Given the description of an element on the screen output the (x, y) to click on. 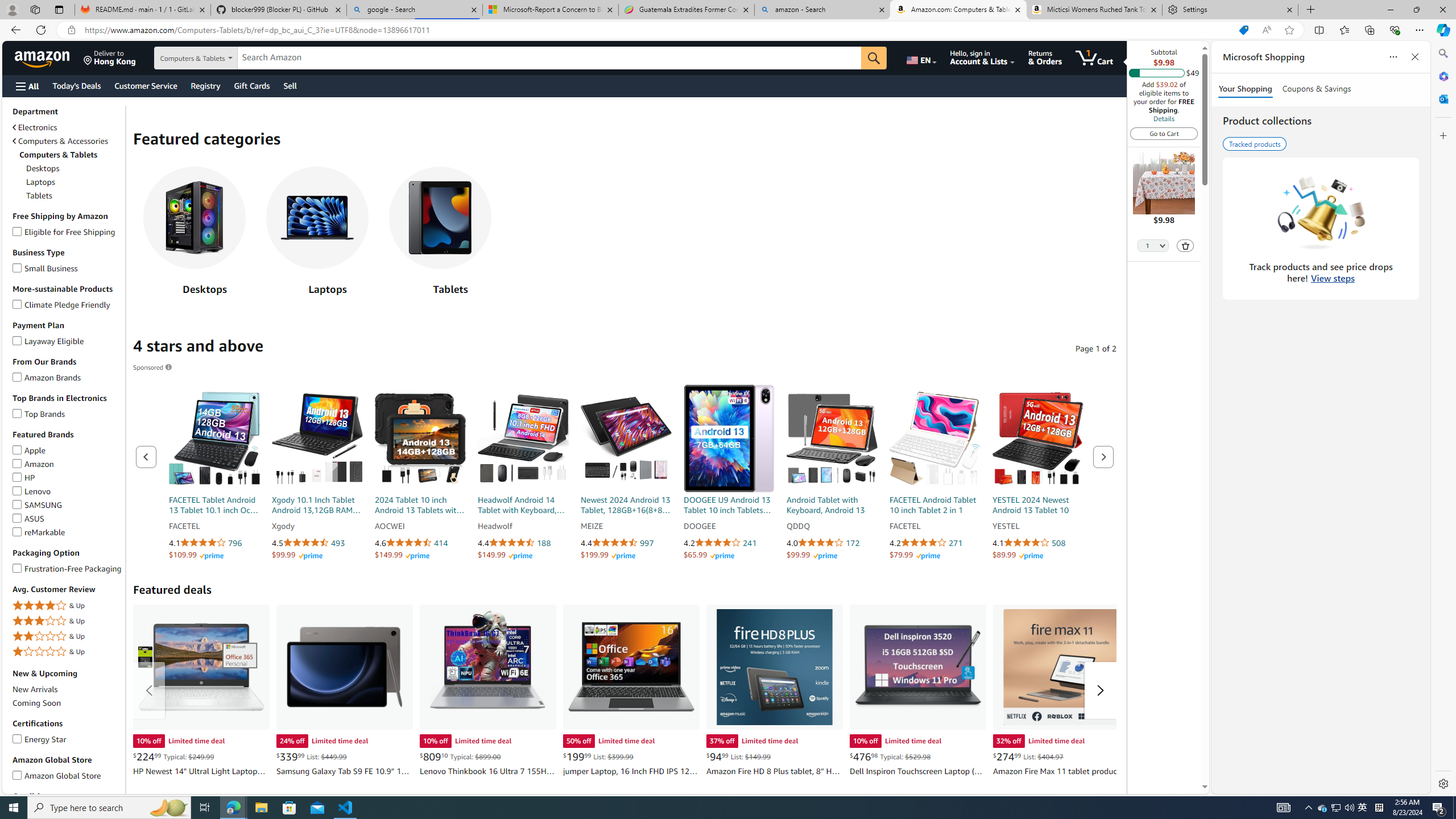
Lenovo (17, 488)
Small BusinessSmall Business (67, 268)
YESTEL (1037, 526)
Amazon Global Store Amazon Global Store (57, 775)
HP (17, 474)
Layaway Eligible (17, 338)
Gift Cards (251, 85)
1 Star & Up (67, 651)
Apple Apple (29, 449)
Frustration-Free Packaging (17, 565)
